Given the description of an element on the screen output the (x, y) to click on. 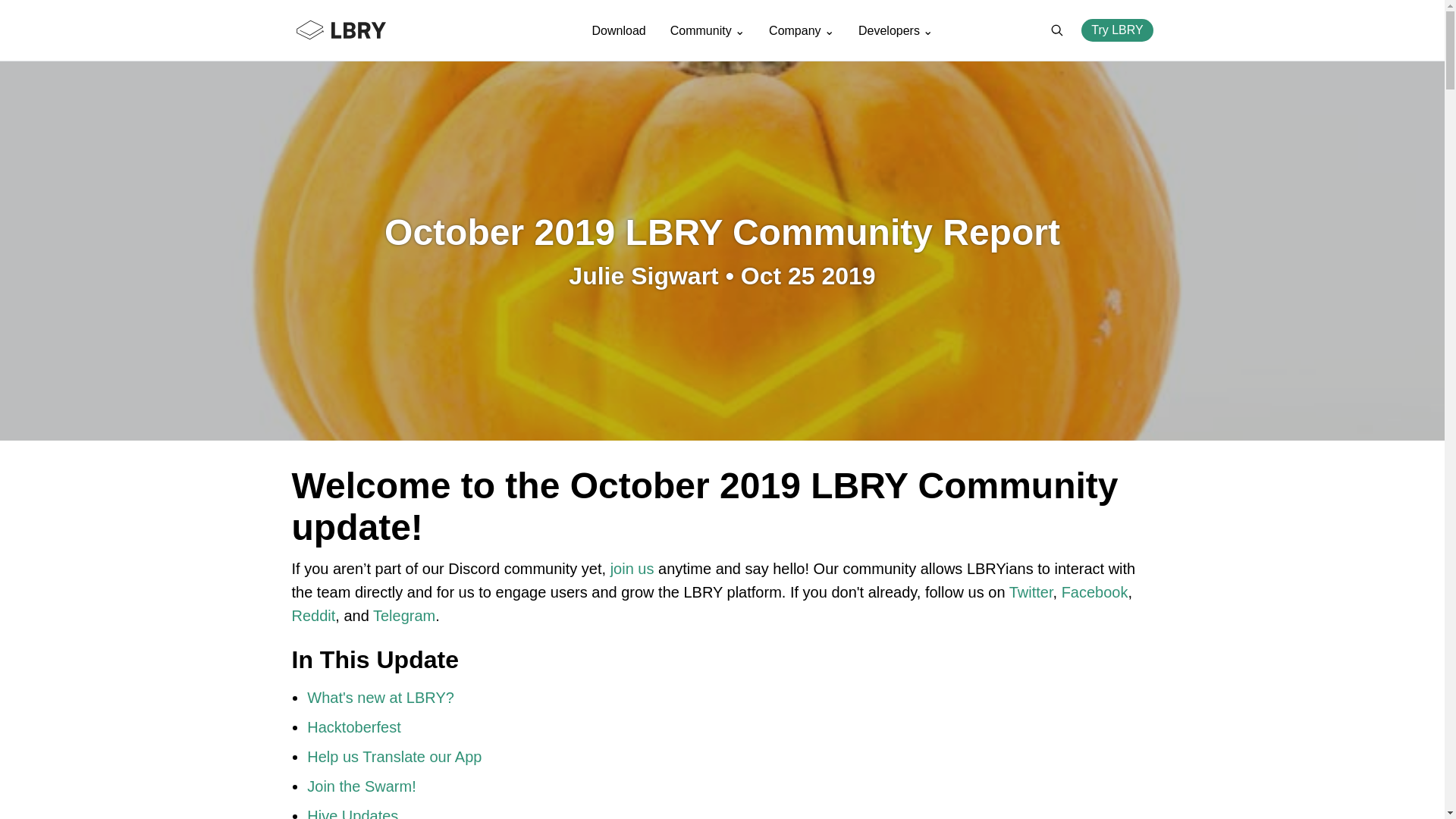
Search (1056, 30)
Telegram (403, 615)
What's new at LBRY? (380, 697)
Twitter (1030, 591)
Facebook (1094, 591)
Join the Swarm! (360, 786)
join us (631, 568)
Download (619, 30)
LBRY (369, 30)
Help us Translate our App (394, 756)
